Given the description of an element on the screen output the (x, y) to click on. 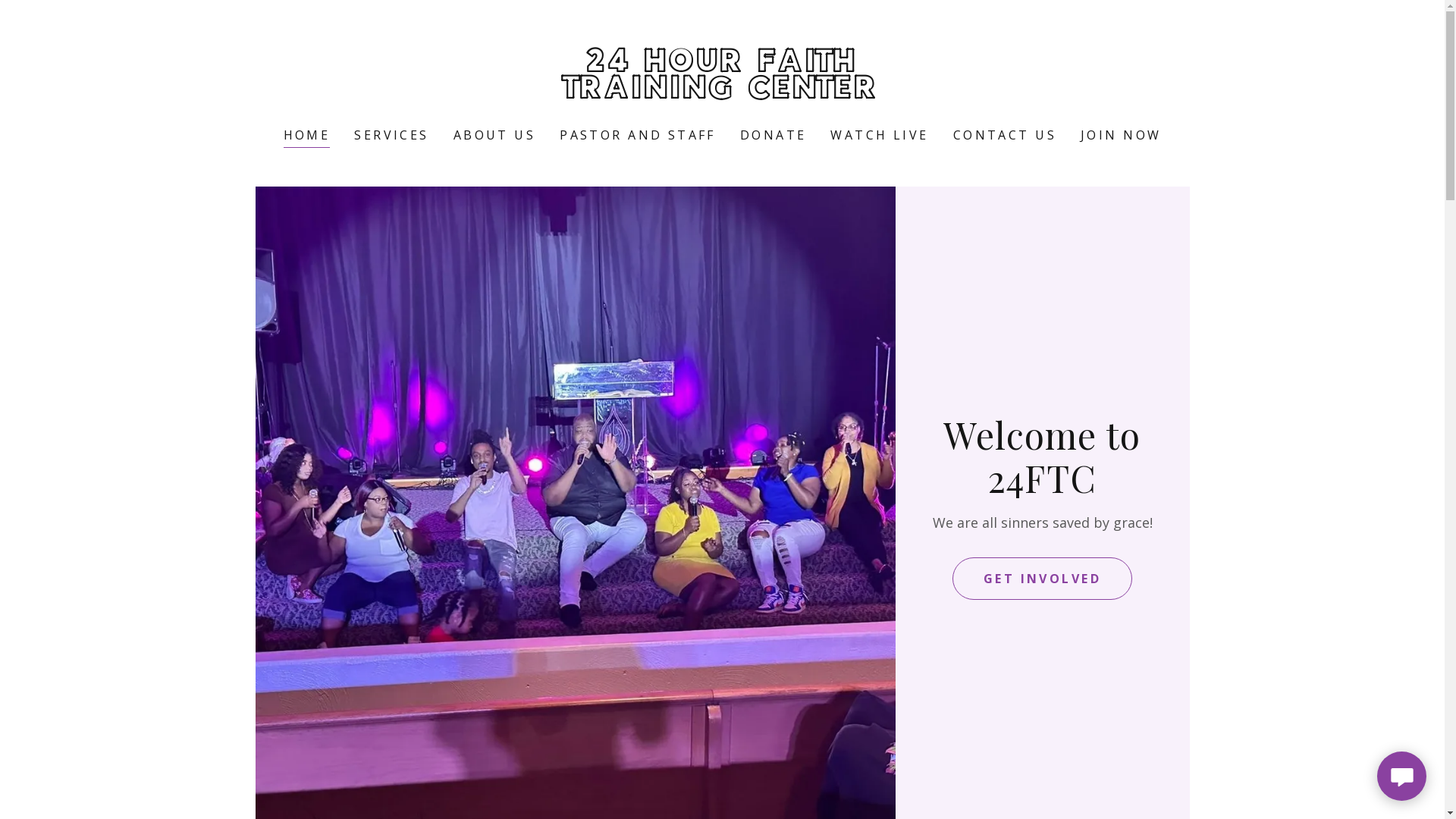
ABOUT US Element type: text (493, 134)
GET INVOLVED Element type: text (1042, 578)
PASTOR AND STAFF Element type: text (637, 134)
DONATE Element type: text (773, 134)
WATCH LIVE Element type: text (878, 134)
HOME Element type: text (306, 136)
JOIN NOW Element type: text (1120, 134)
SERVICES Element type: text (391, 134)
CONTACT US Element type: text (1004, 134)
24 HOUR FAITH TRAINING CENTER Element type: text (722, 93)
